Given the description of an element on the screen output the (x, y) to click on. 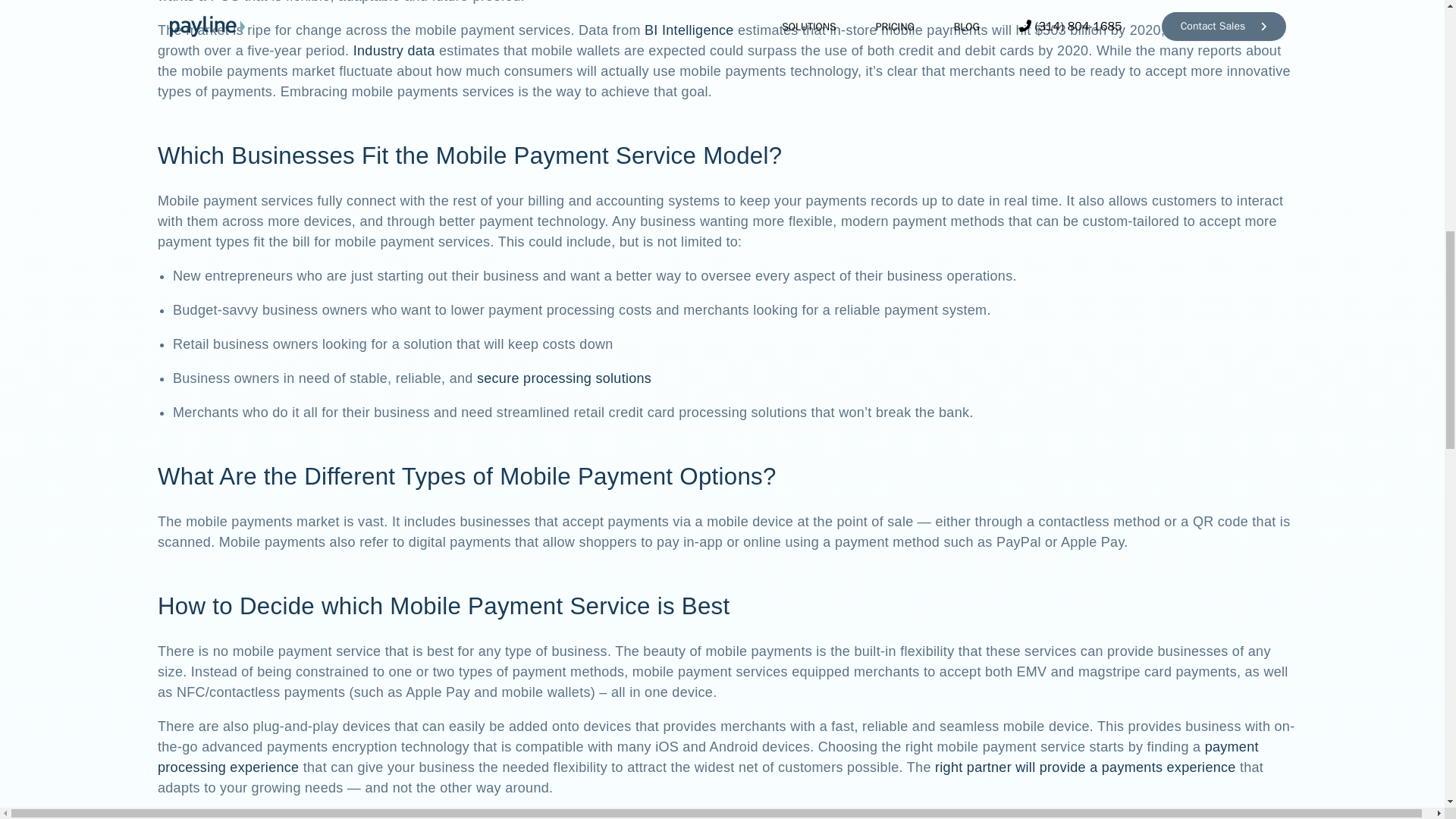
Find Your Solution (727, 816)
secure processing solutions (563, 378)
BI Intelligence (689, 29)
right partner will provide a payments experience (1085, 767)
payment processing experience (708, 756)
Industry data (394, 50)
